Given the description of an element on the screen output the (x, y) to click on. 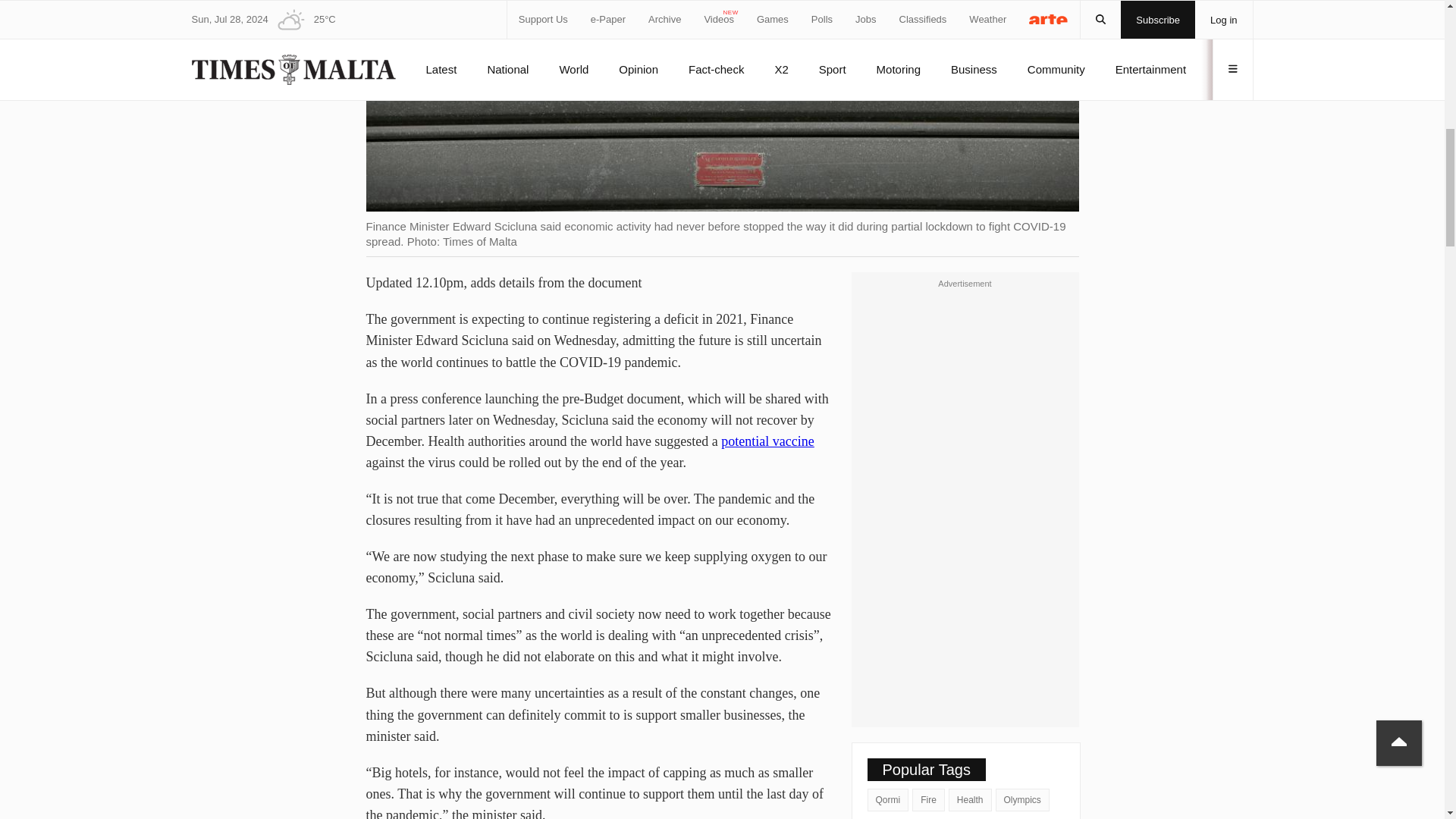
potential vaccine (766, 441)
